Given the description of an element on the screen output the (x, y) to click on. 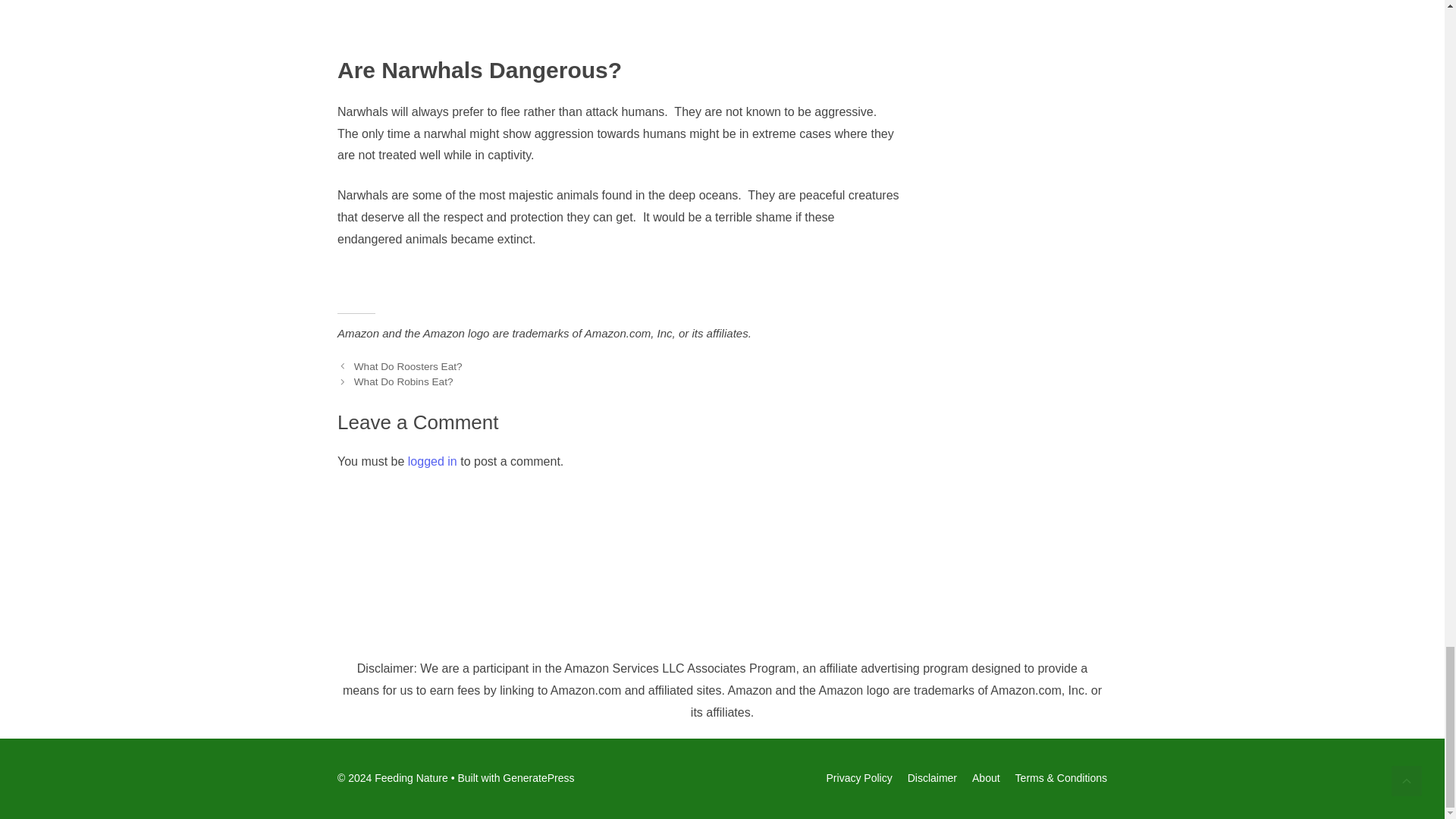
Disclaimer (931, 777)
GeneratePress (537, 777)
What Do Roosters Eat? (408, 366)
What Do Robins Eat? (402, 381)
About (986, 777)
Privacy Policy (859, 777)
logged in (432, 461)
